Given the description of an element on the screen output the (x, y) to click on. 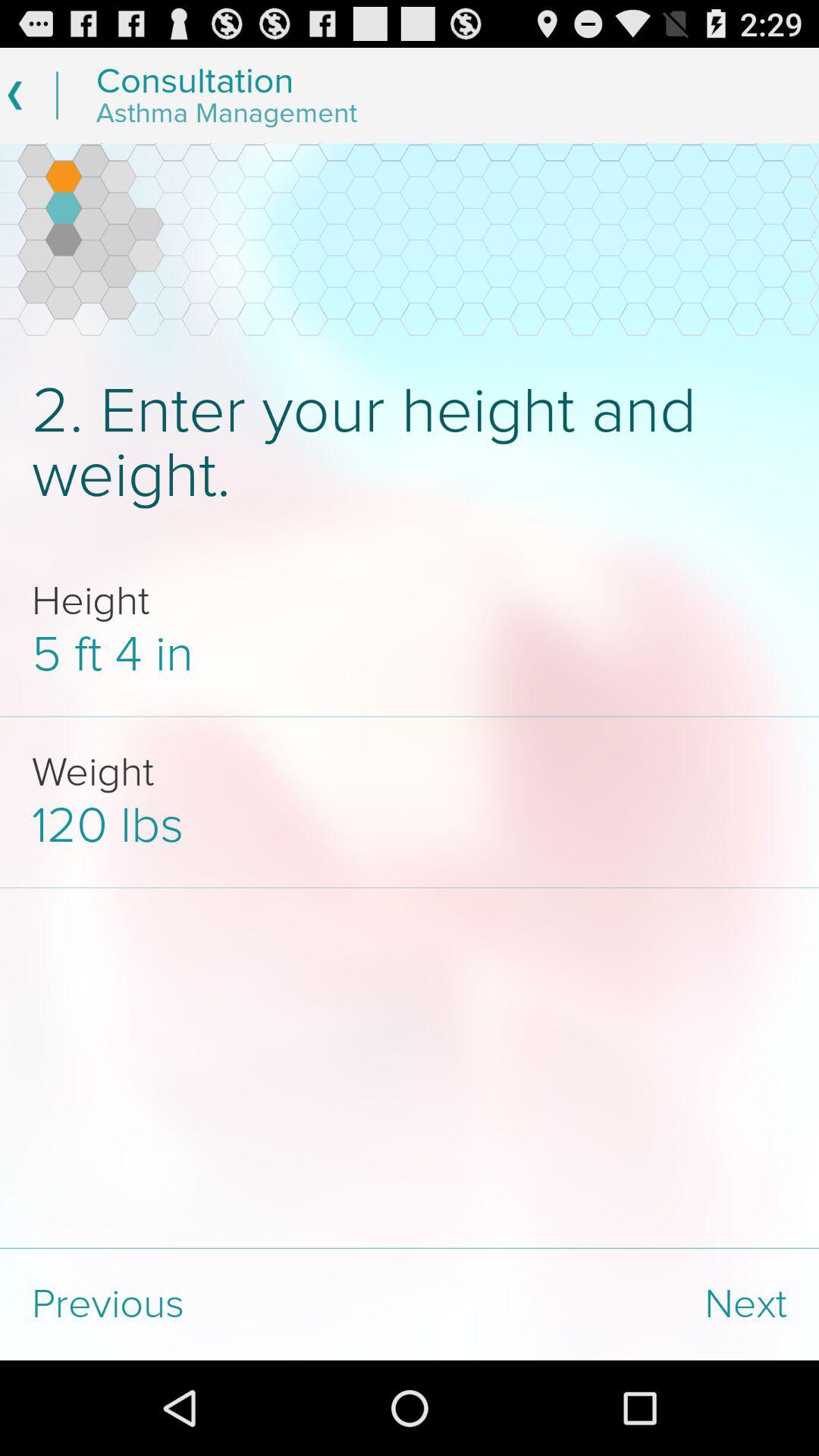
tap app at the bottom right corner (614, 1304)
